Given the description of an element on the screen output the (x, y) to click on. 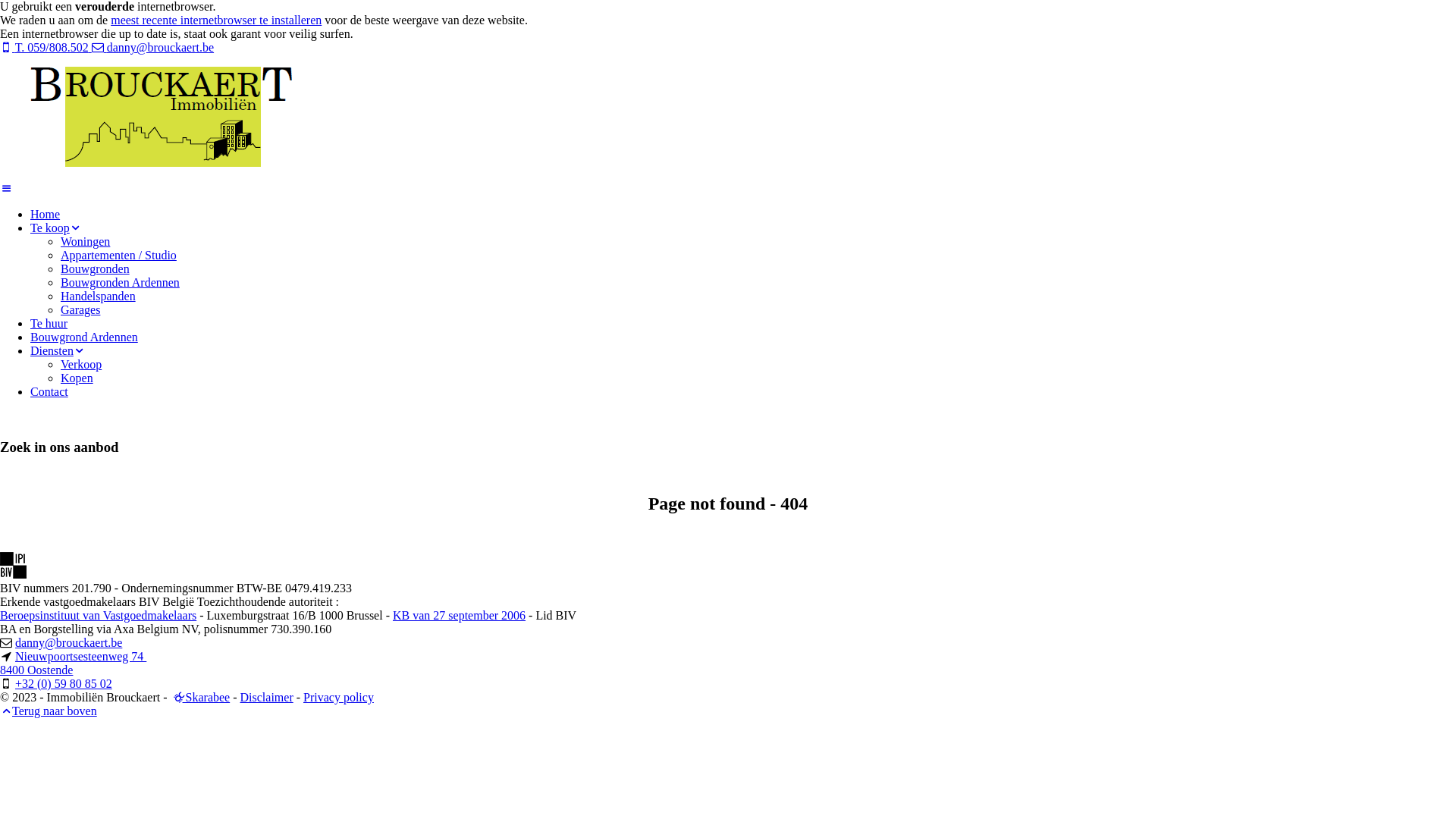
Te huur Element type: text (48, 322)
Bouwgronden Ardennen Element type: text (119, 282)
KB van 27 september 2006 Element type: text (458, 614)
Menu Element type: hover (6, 188)
Verkoop Element type: text (80, 363)
danny@brouckaert.be Element type: text (68, 642)
Garages Element type: text (80, 309)
Te koop Element type: text (55, 227)
Bouwgronden Element type: text (94, 268)
Woningen Element type: text (84, 241)
Handelspanden Element type: text (97, 295)
Kopen Element type: text (76, 377)
Terug naar boven Element type: text (48, 710)
danny@brouckaert.be Element type: text (152, 46)
+32 (0) 59 80 85 02 Element type: text (63, 683)
meest recente internetbrowser te installeren Element type: text (215, 19)
Skarabee Element type: text (200, 696)
T. 059/808.502 Element type: text (45, 46)
Privacy policy Element type: text (338, 696)
Beroepsinstituut van Vastgoedmakelaars Element type: text (98, 614)
Appartementen / Studio Element type: text (118, 254)
Contact Element type: text (49, 391)
Nieuwpoortsesteenweg 74 
8400 Oostende Element type: text (73, 662)
Bouwgrond Ardennen Element type: text (84, 336)
Diensten Element type: text (57, 350)
Skarabee Element type: hover (176, 696)
Home Element type: text (44, 213)
BIV Element type: hover (13, 573)
Disclaimer Element type: text (266, 696)
